Given the description of an element on the screen output the (x, y) to click on. 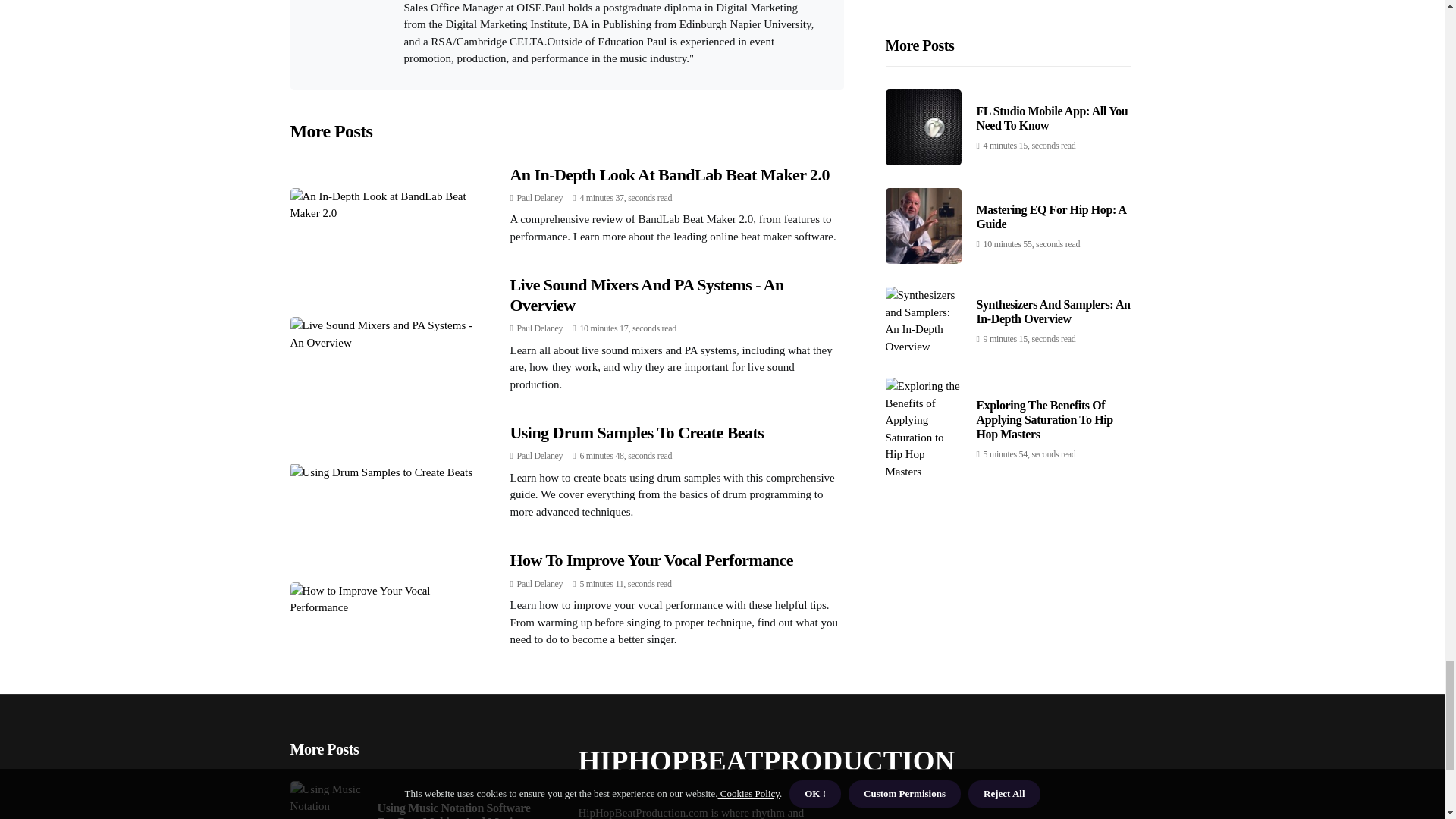
Posts by Paul Delaney (539, 197)
Posts by Paul Delaney (539, 327)
Posts by Paul Delaney (539, 455)
Posts by Paul Delaney (539, 583)
